Given the description of an element on the screen output the (x, y) to click on. 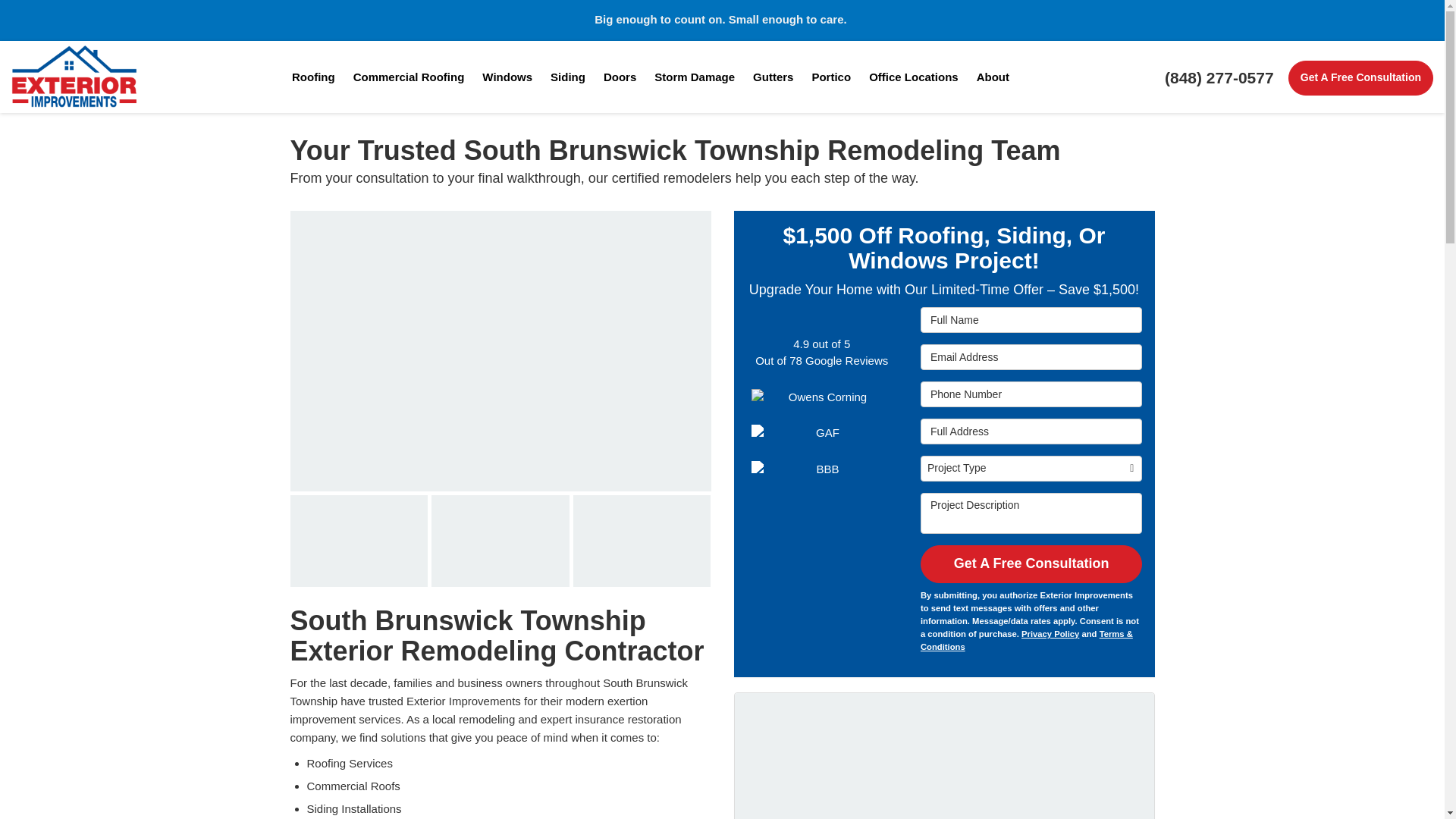
Storm Damage (694, 76)
Get A Free Consultation (1360, 77)
Get A Free Consultation (1360, 77)
Commercial Roofing (408, 76)
Windows (507, 76)
